Given the description of an element on the screen output the (x, y) to click on. 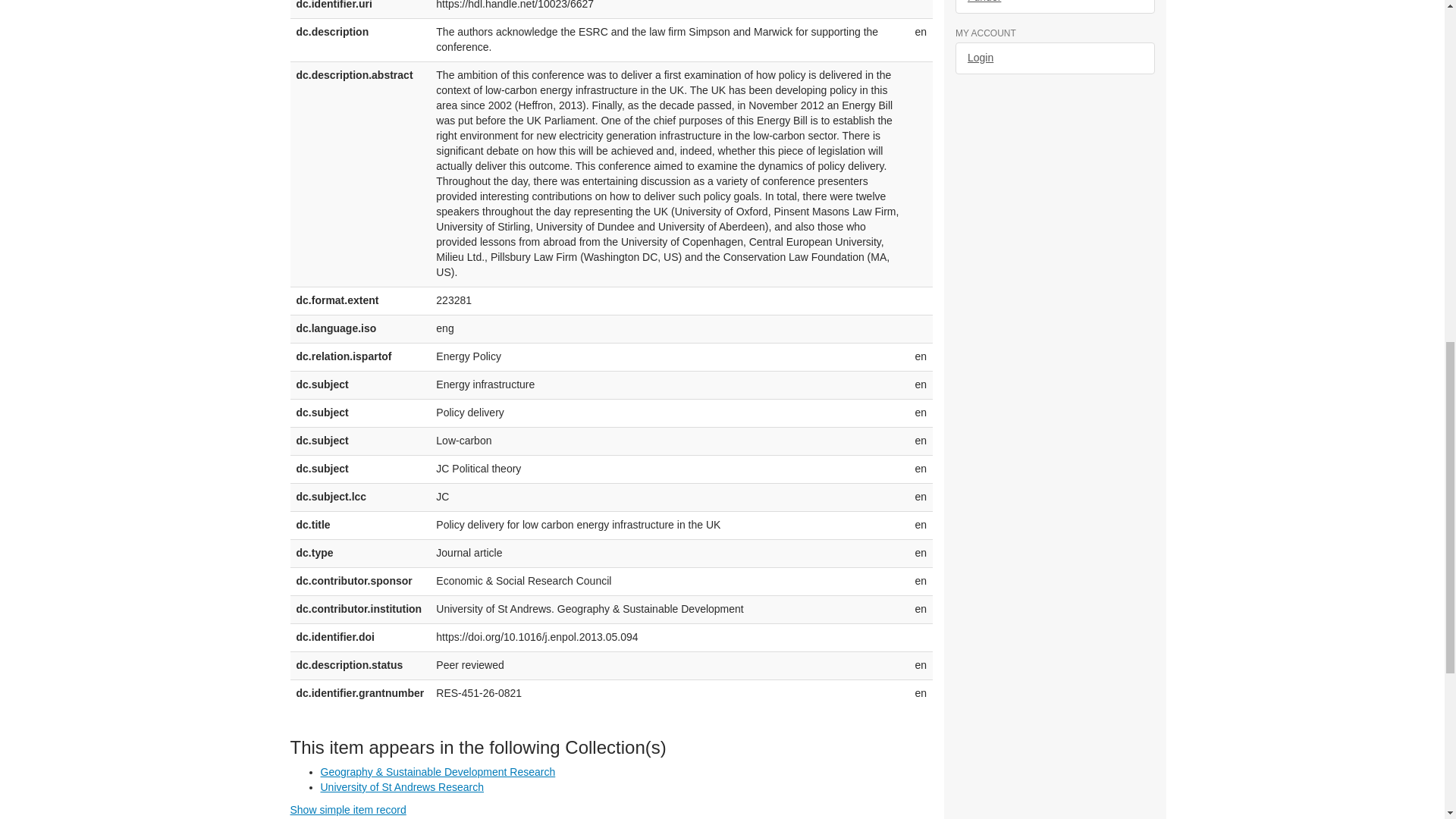
Show simple item record (347, 809)
University of St Andrews Research (401, 787)
